Given the description of an element on the screen output the (x, y) to click on. 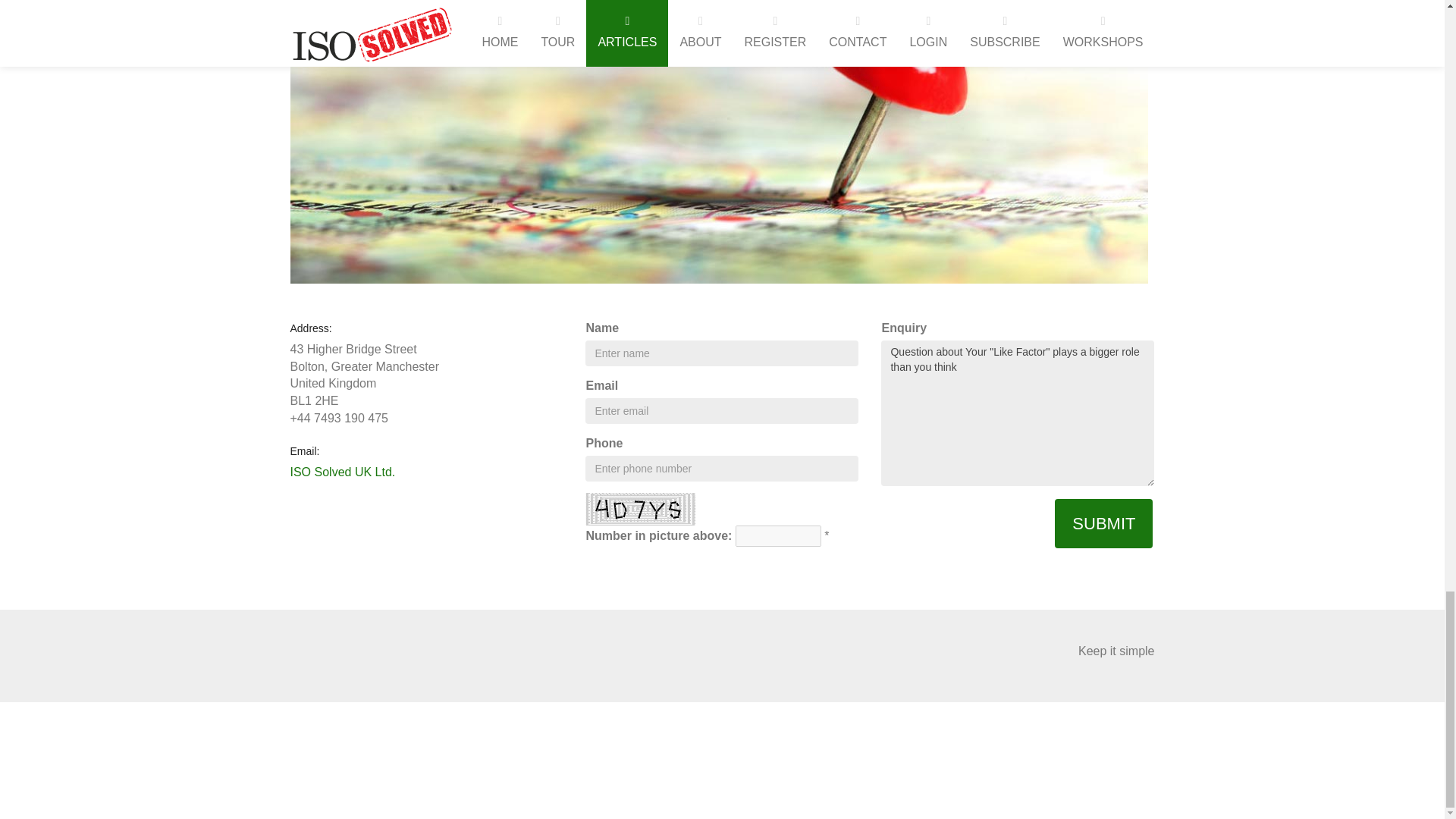
Please enter a valid email address (722, 411)
Submit (1103, 523)
ISO Solved UK Ltd. (341, 472)
